Given the description of an element on the screen output the (x, y) to click on. 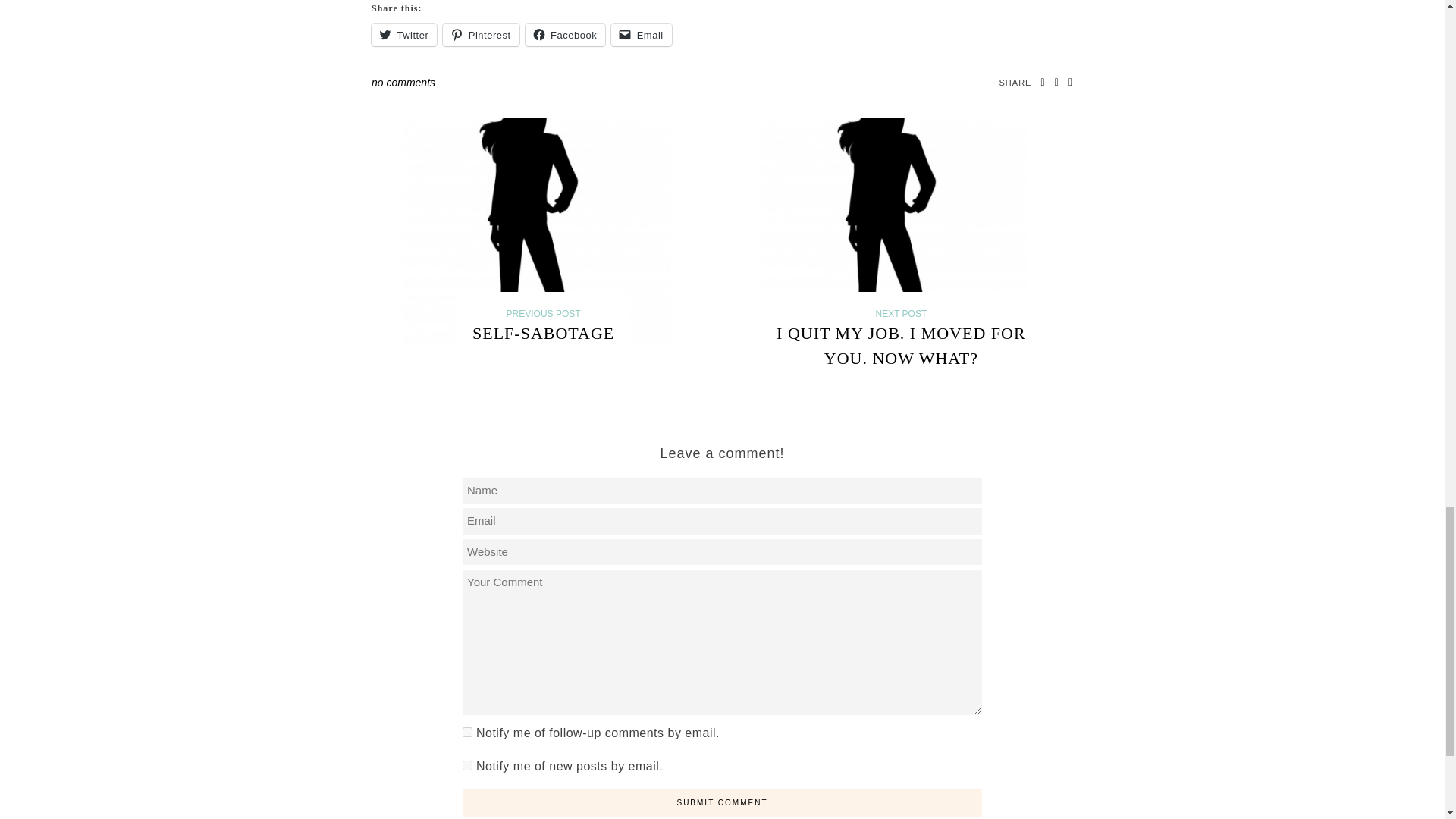
Facebook (565, 34)
subscribe (467, 765)
Pinterest (480, 34)
subscribe (467, 732)
Email (641, 34)
Click to email a link to a friend (641, 34)
Click to share on Facebook (565, 34)
Click to share on Pinterest (480, 34)
Twitter (403, 34)
Click to share on Twitter (403, 34)
